Given the description of an element on the screen output the (x, y) to click on. 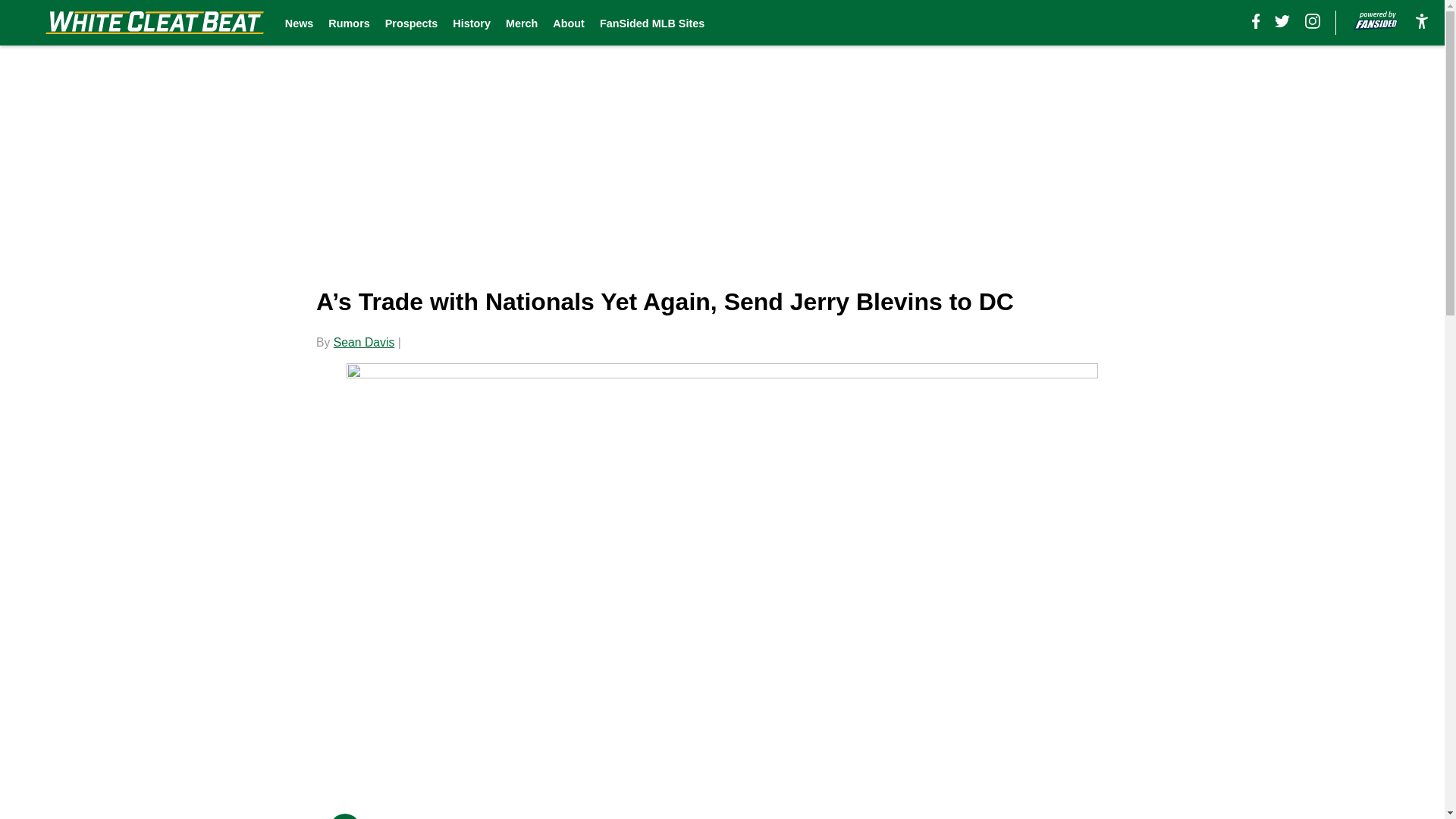
Prospects (411, 23)
FanSided MLB Sites (651, 23)
Rumors (349, 23)
Sean Davis (363, 341)
News (299, 23)
History (471, 23)
Merch (521, 23)
About (569, 23)
